Given the description of an element on the screen output the (x, y) to click on. 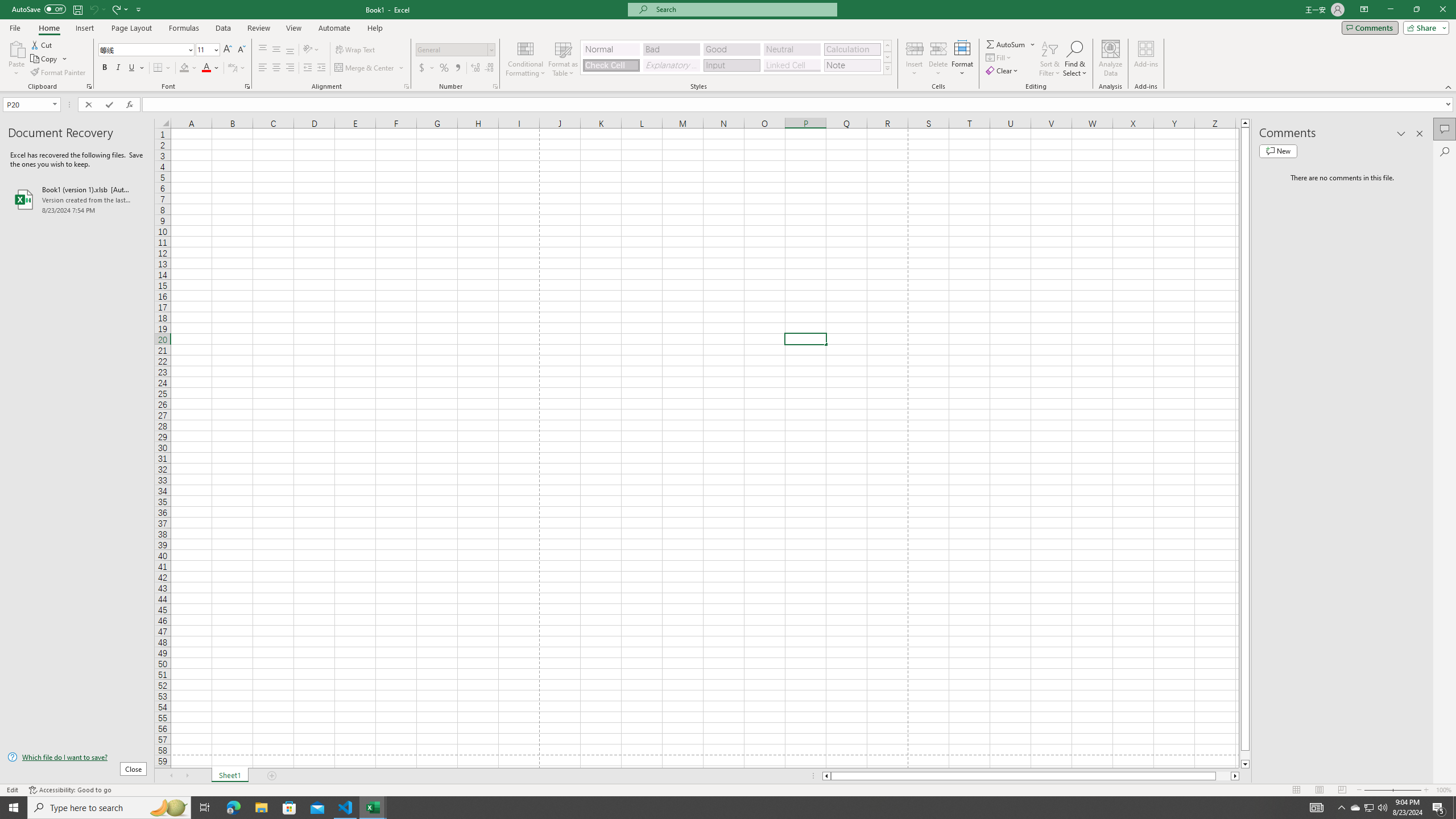
Ribbon Display Options (1364, 9)
Format Painter (58, 72)
Analyze Data (1110, 58)
Decrease Decimal (489, 67)
Formula Bar (799, 104)
Increase Font Size (227, 49)
Cell Styles (887, 68)
Bold (104, 67)
Collapse the Ribbon (1448, 86)
Find & Select (1075, 58)
Decrease Font Size (240, 49)
Close pane (1419, 133)
Note (852, 65)
Comments (1369, 27)
